Given the description of an element on the screen output the (x, y) to click on. 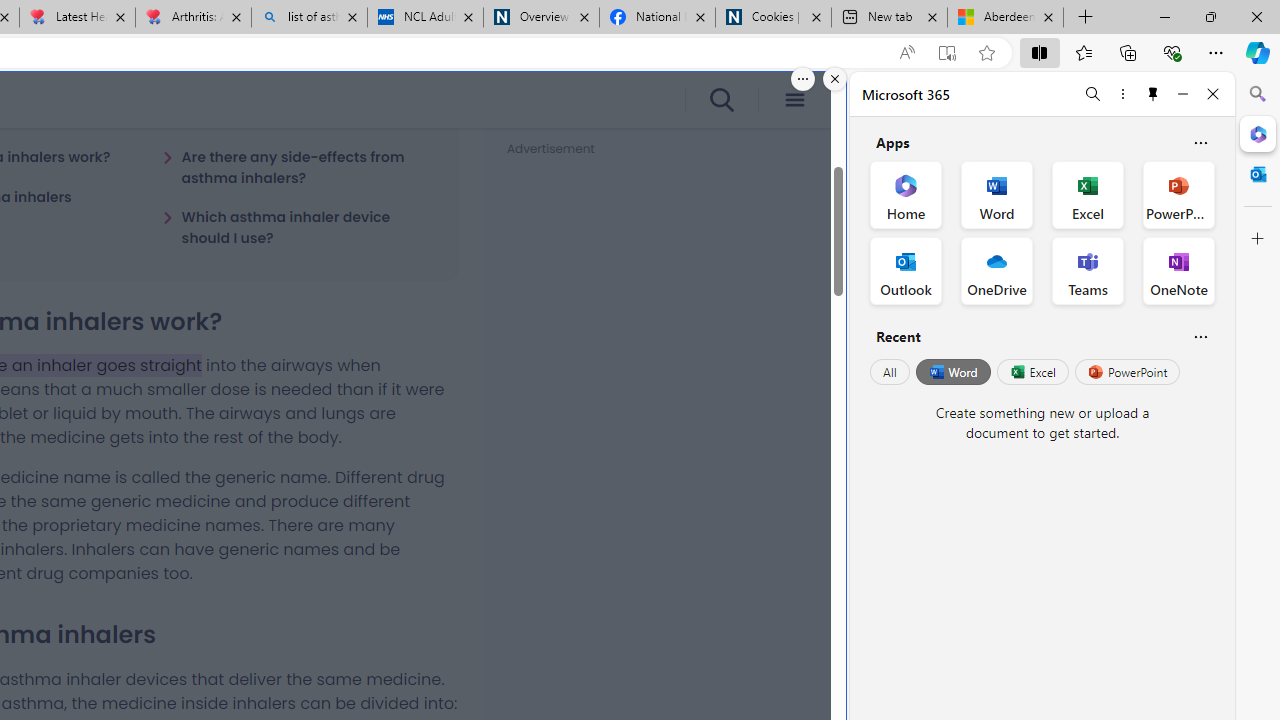
Close split screen. (835, 79)
menu icon (793, 99)
All (890, 372)
Word Office App (996, 194)
Word (952, 372)
search (720, 99)
More options. (803, 79)
